Given the description of an element on the screen output the (x, y) to click on. 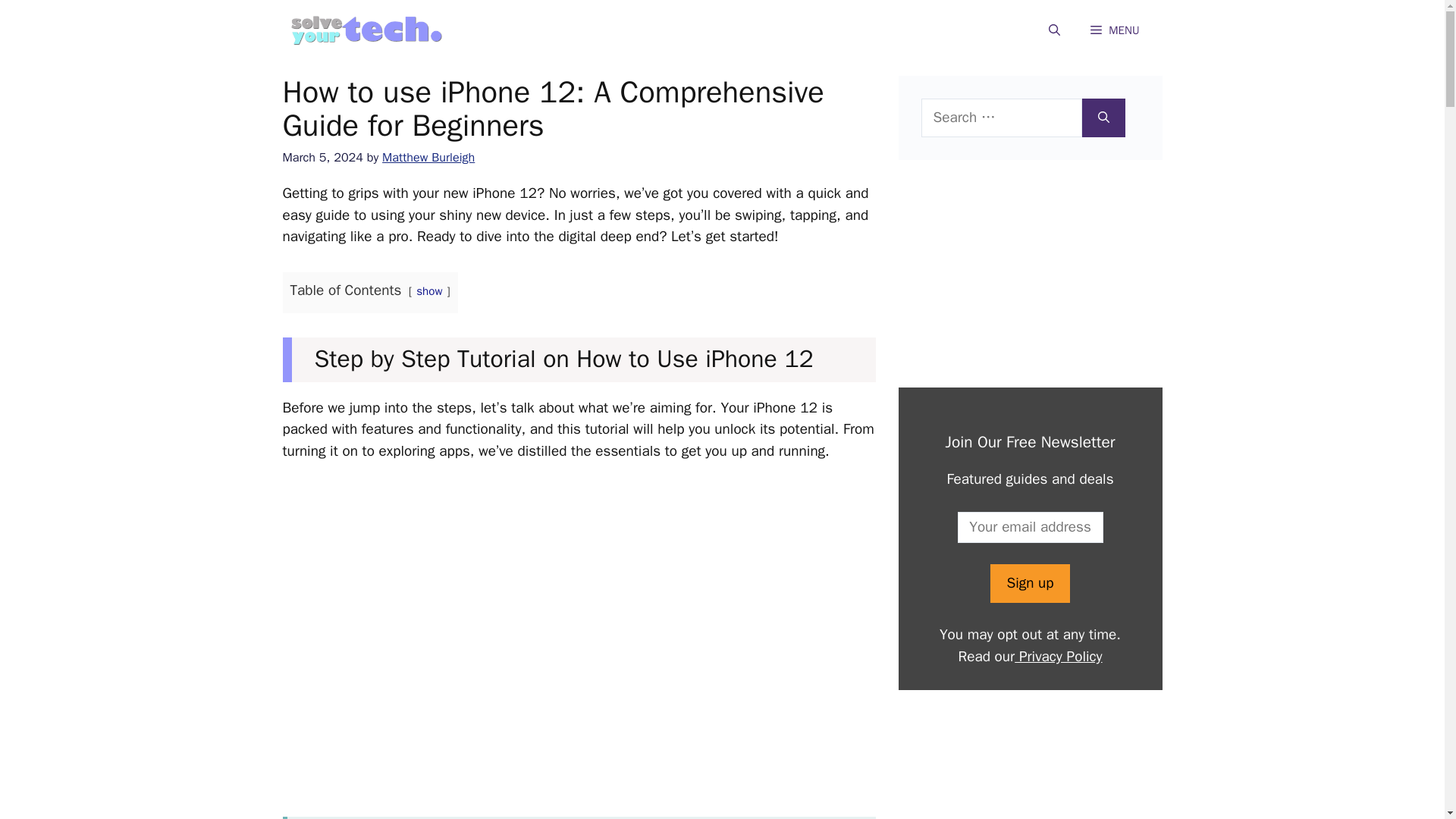
Matthew Burleigh (427, 157)
show (429, 290)
Sign up (1029, 583)
MENU (1114, 30)
